Given the description of an element on the screen output the (x, y) to click on. 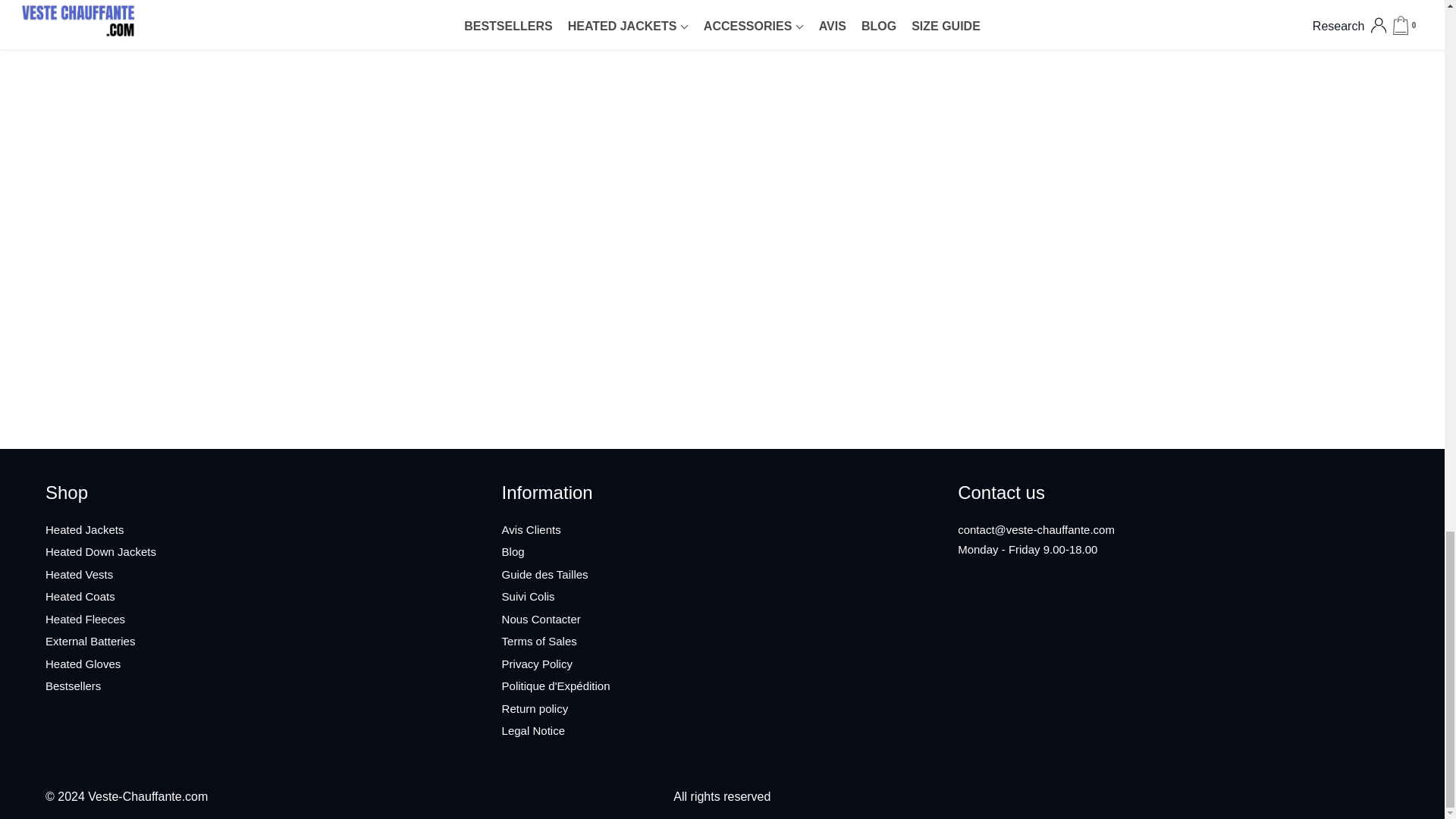
Heated Jackets (84, 529)
Heated Down Jackets (100, 551)
Heated Vests (79, 574)
